Given the description of an element on the screen output the (x, y) to click on. 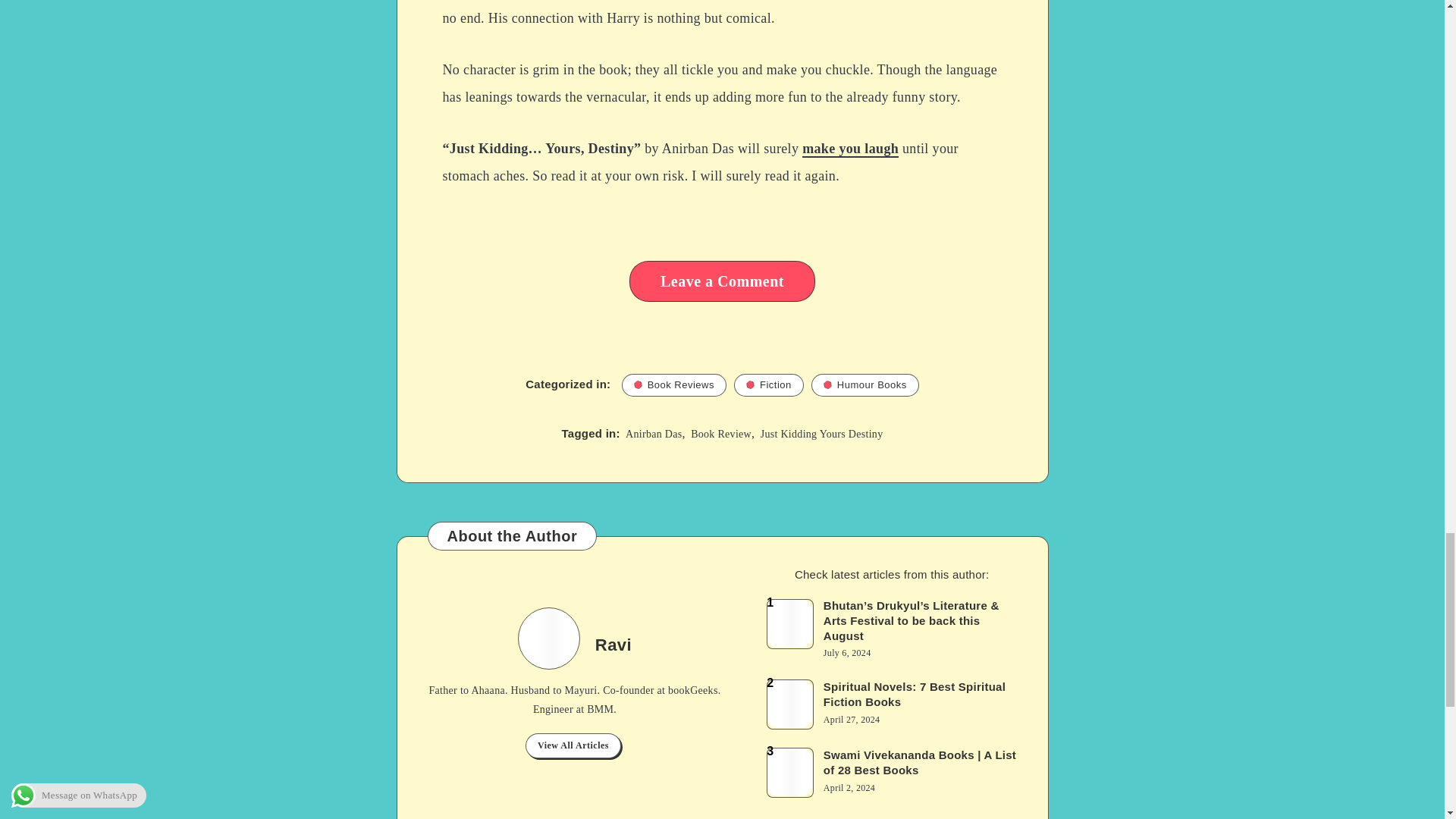
Leave a Comment (721, 281)
make you laugh (850, 149)
